Given the description of an element on the screen output the (x, y) to click on. 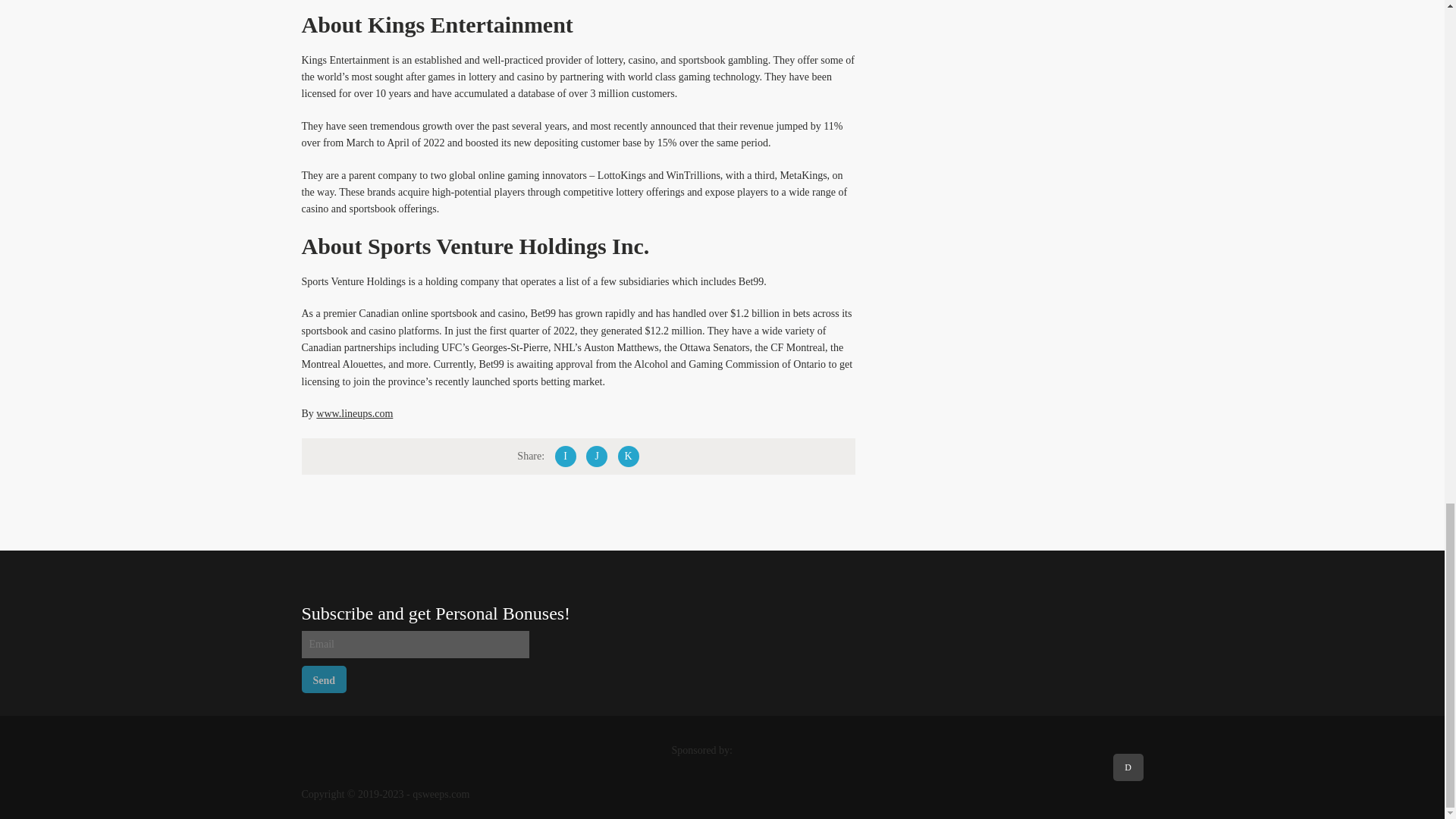
Share by email (628, 455)
Send (324, 678)
www.lineups.com (354, 413)
Share on Twitter (596, 455)
Share on Facebook (565, 455)
Send (324, 678)
